Given the description of an element on the screen output the (x, y) to click on. 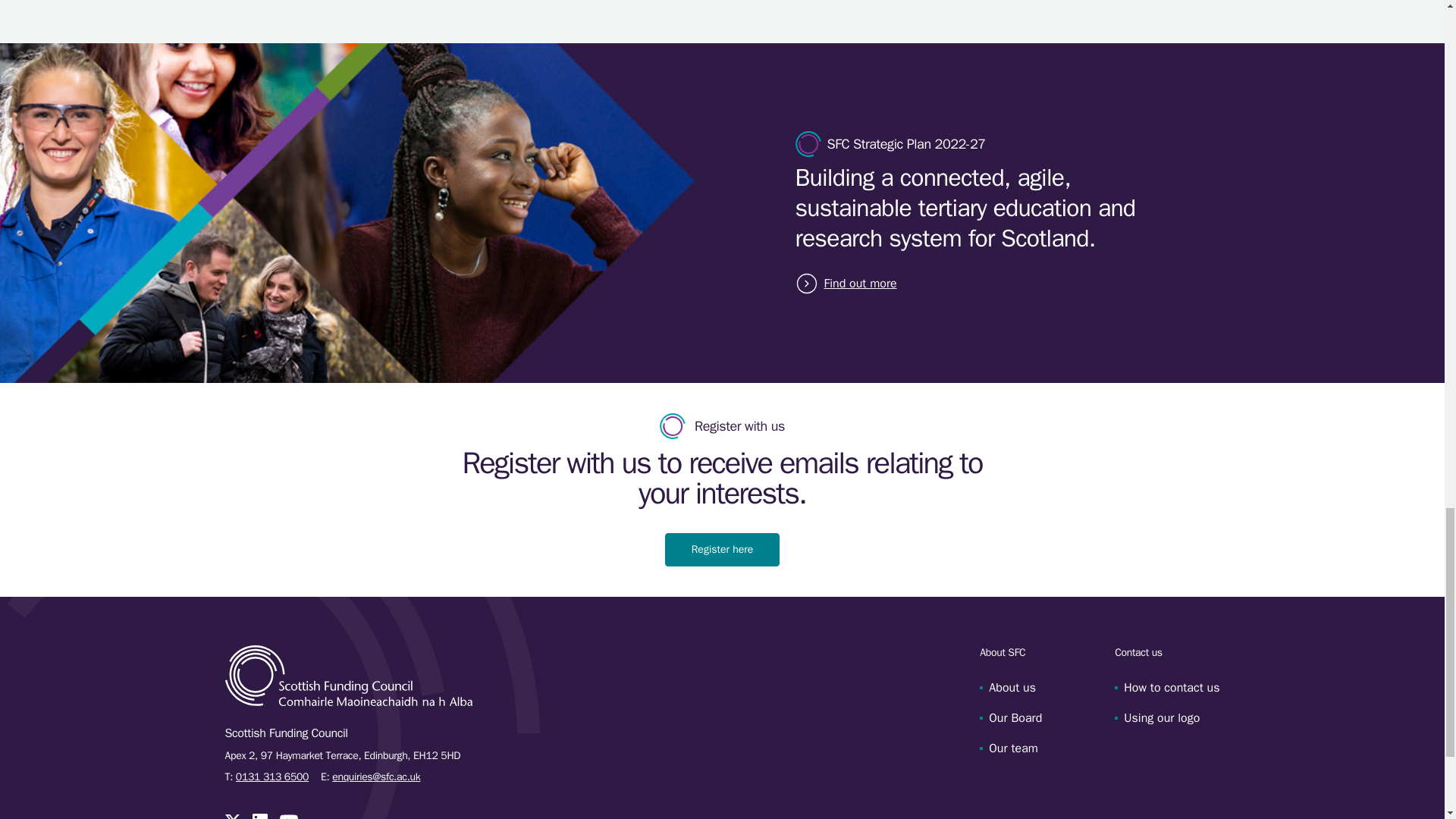
Scottish Funding Council on LinkedIn (258, 816)
Find out more (856, 283)
Scottish Funding Council on Twitter (232, 816)
Scottish Funding Council on YouTube (288, 815)
